Given the description of an element on the screen output the (x, y) to click on. 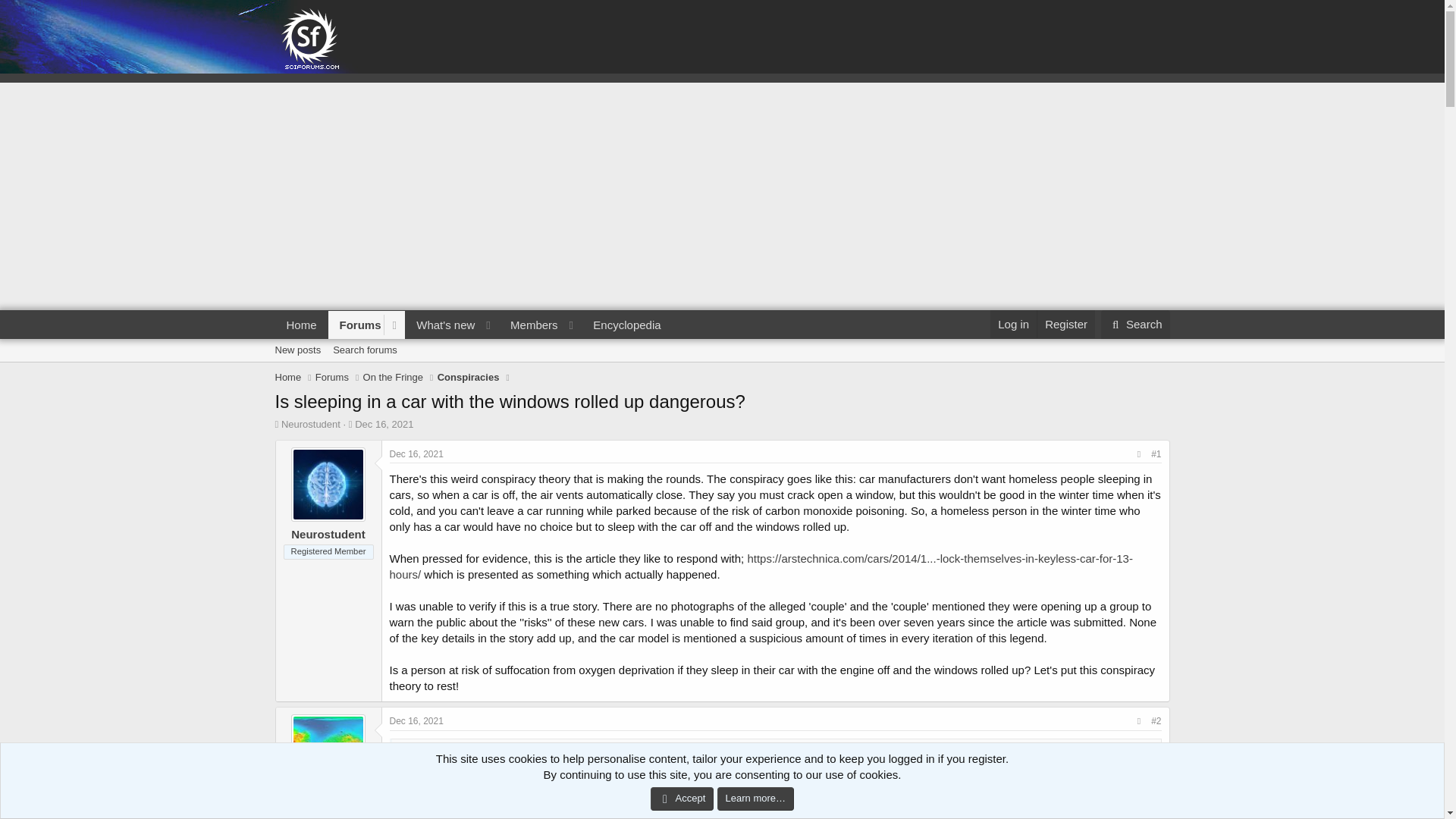
Dec 16, 2021 at 10:14 PM (384, 423)
What's new (440, 325)
Search (1135, 324)
Forums (356, 325)
Neurostudent (328, 533)
Neurostudent (310, 423)
Encyclopedia (625, 325)
Conspiracies (468, 377)
Dec 16, 2021 (472, 325)
Search (384, 423)
New posts (1135, 324)
Home (296, 350)
Forums (301, 325)
Members (332, 377)
